Given the description of an element on the screen output the (x, y) to click on. 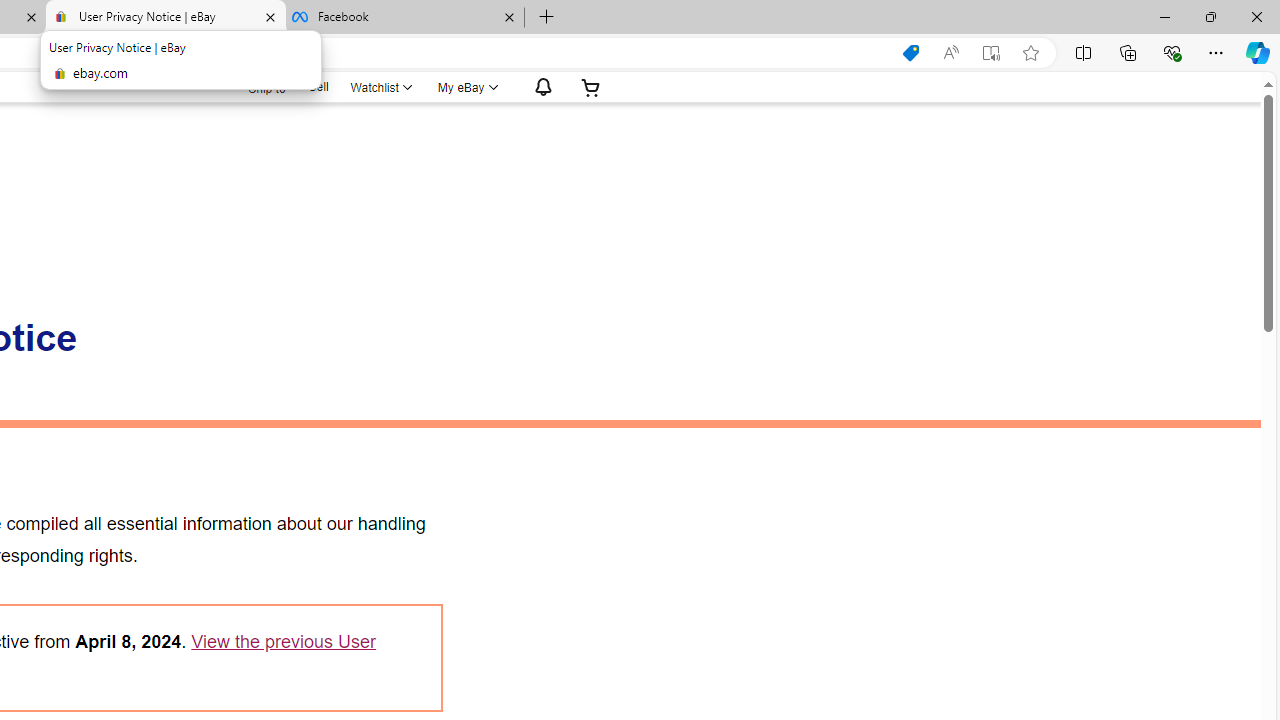
This site has coupons! Shopping in Microsoft Edge (910, 53)
My eBay (466, 87)
WatchlistExpand Watch List (380, 87)
Facebook (404, 17)
Ship to (253, 88)
Sell (318, 87)
Sell (317, 86)
